Given the description of an element on the screen output the (x, y) to click on. 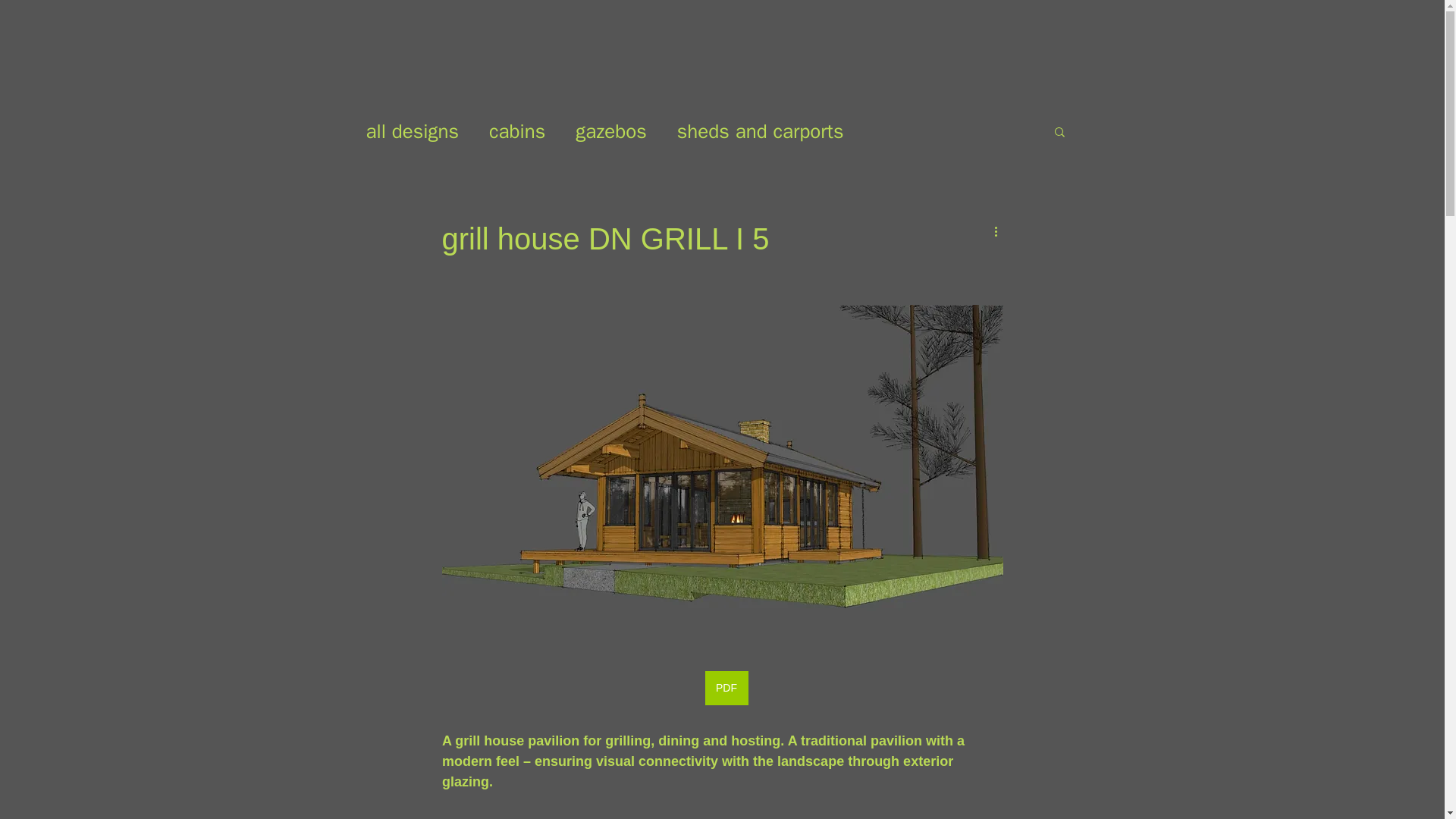
gazebos (610, 130)
PDF (726, 687)
sheds and carports (760, 130)
all designs (411, 130)
cabins (516, 130)
